Given the description of an element on the screen output the (x, y) to click on. 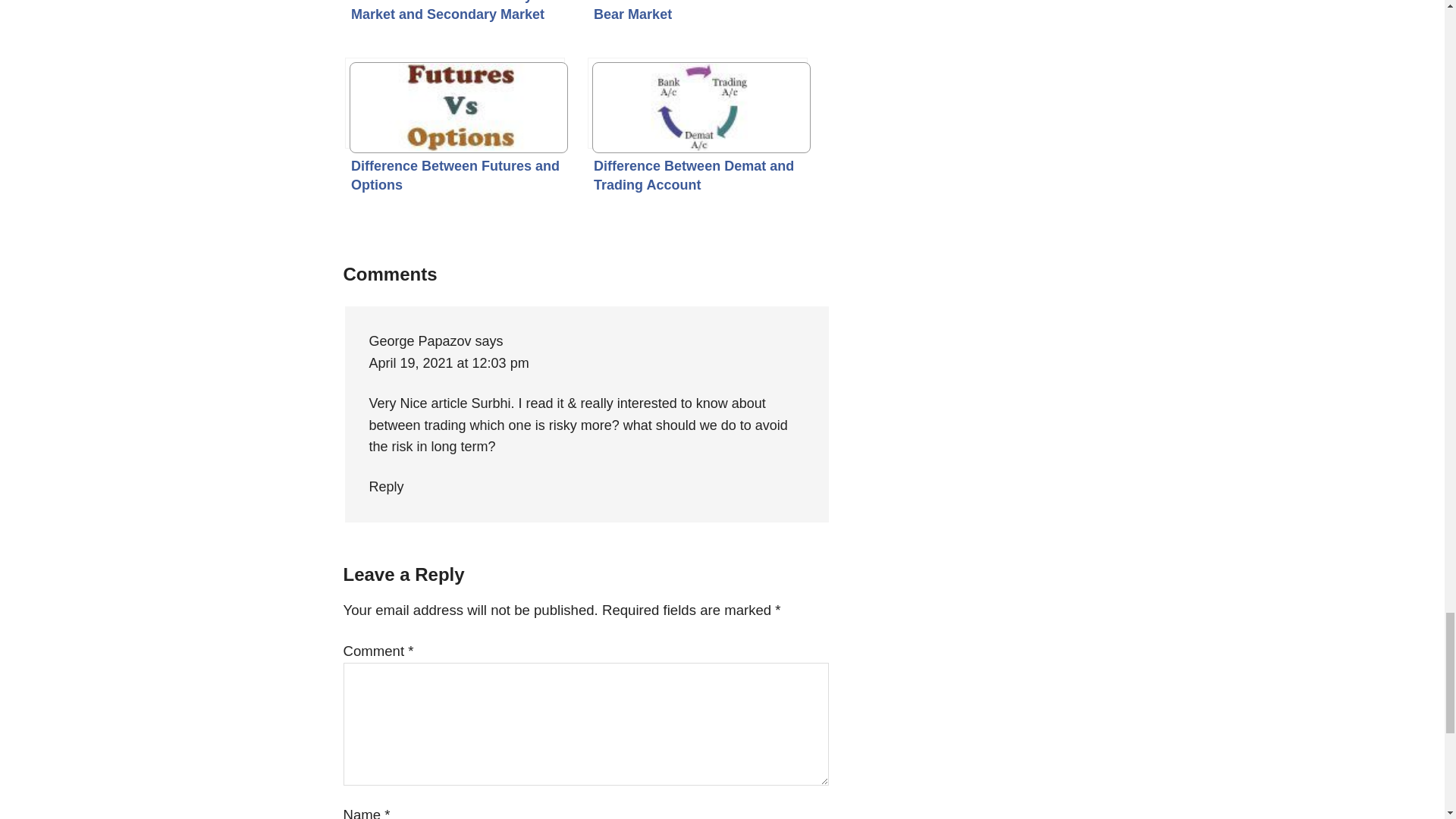
Difference Between Demat and Trading Account (698, 102)
Difference Between Futures and Options (454, 102)
Difference Between Futures and Options (454, 102)
Difference Between Demat and Trading Account (698, 102)
April 19, 2021 at 12:03 pm (448, 363)
Reply (385, 486)
